Given the description of an element on the screen output the (x, y) to click on. 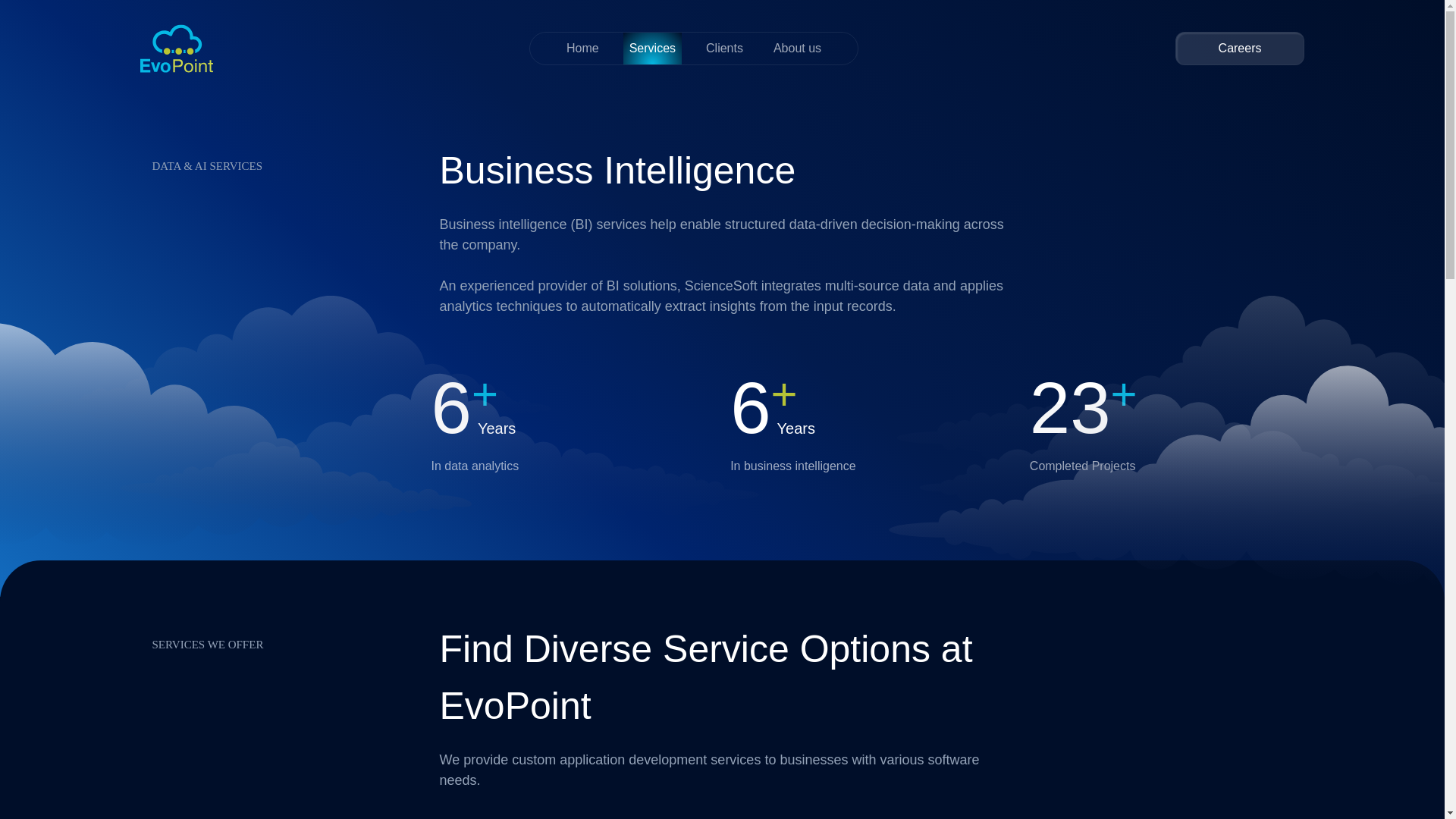
Home (582, 47)
Clients (724, 47)
Services (651, 47)
Careers (1239, 48)
About us (797, 47)
